Given the description of an element on the screen output the (x, y) to click on. 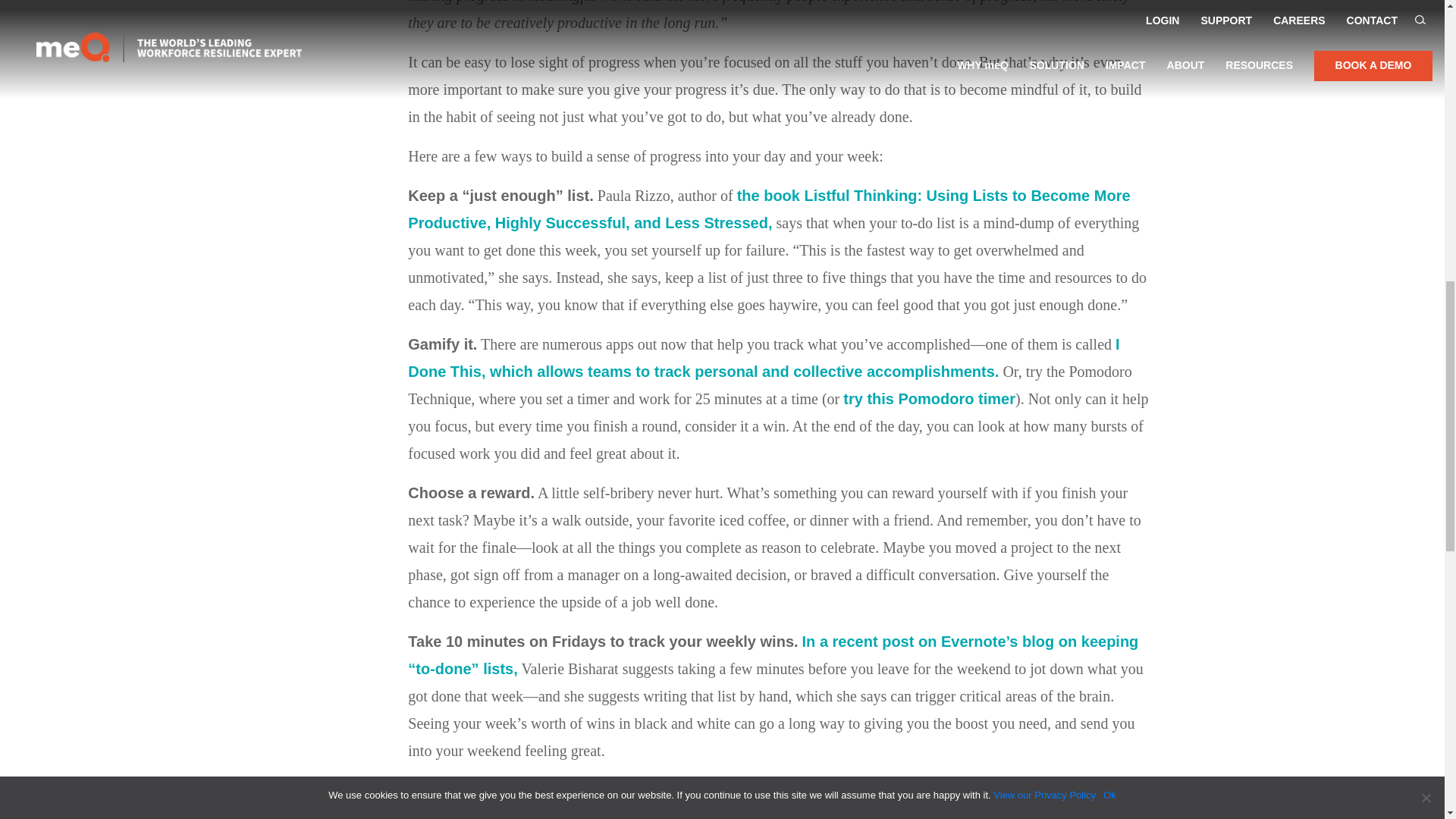
try this Pomodoro timer (928, 398)
